Given the description of an element on the screen output the (x, y) to click on. 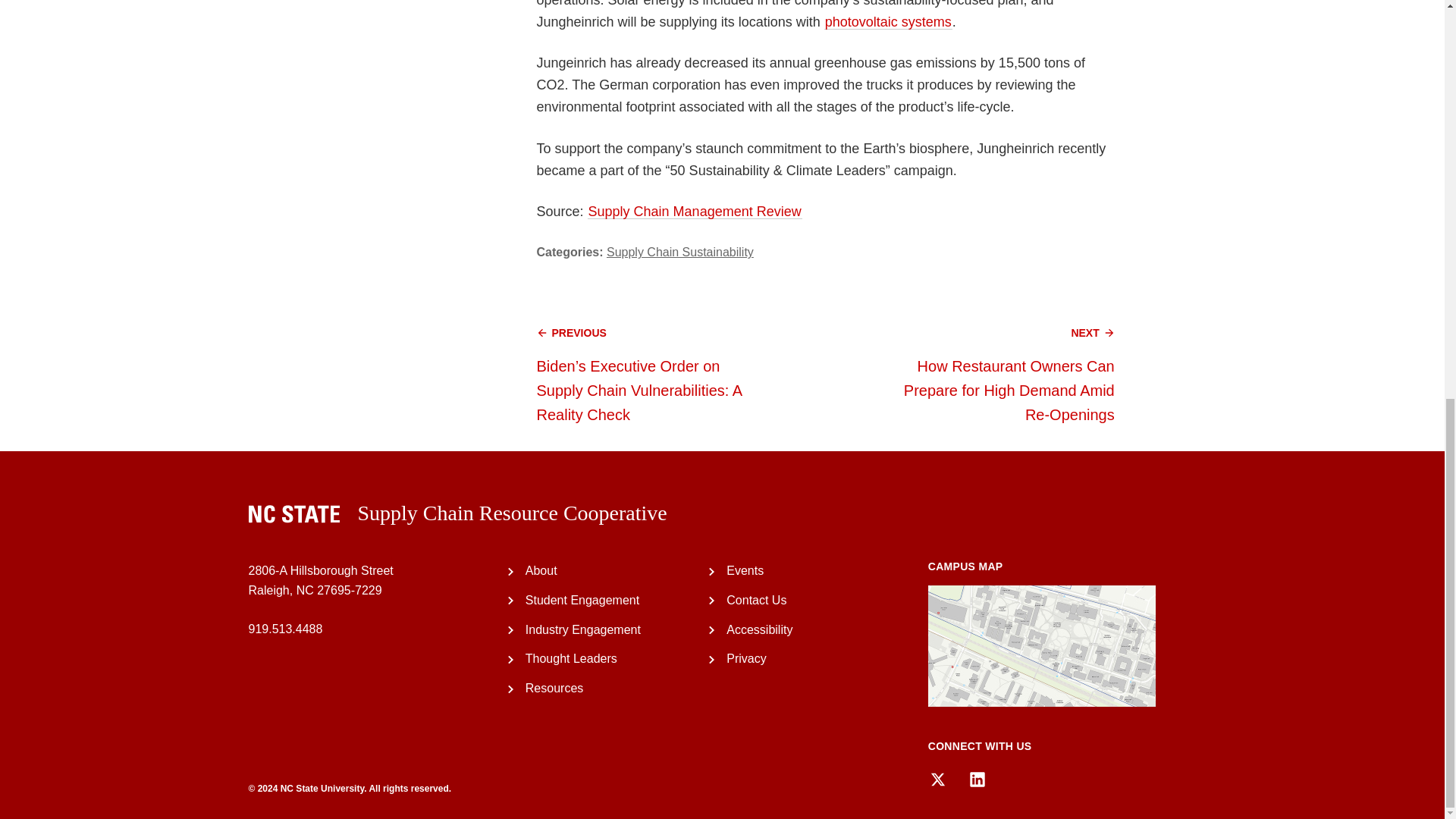
X (937, 779)
LinkedIn (977, 779)
